Given the description of an element on the screen output the (x, y) to click on. 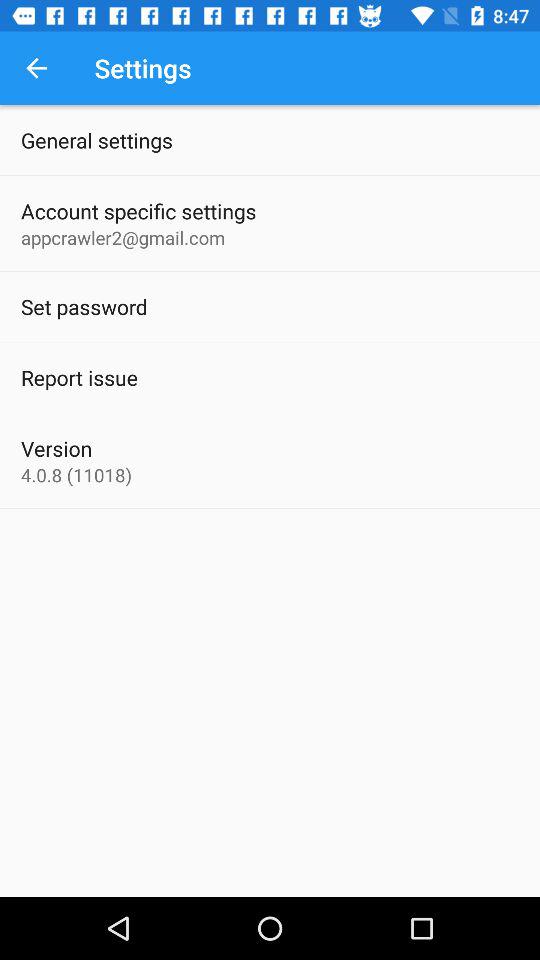
turn off the icon next to the settings (36, 68)
